Given the description of an element on the screen output the (x, y) to click on. 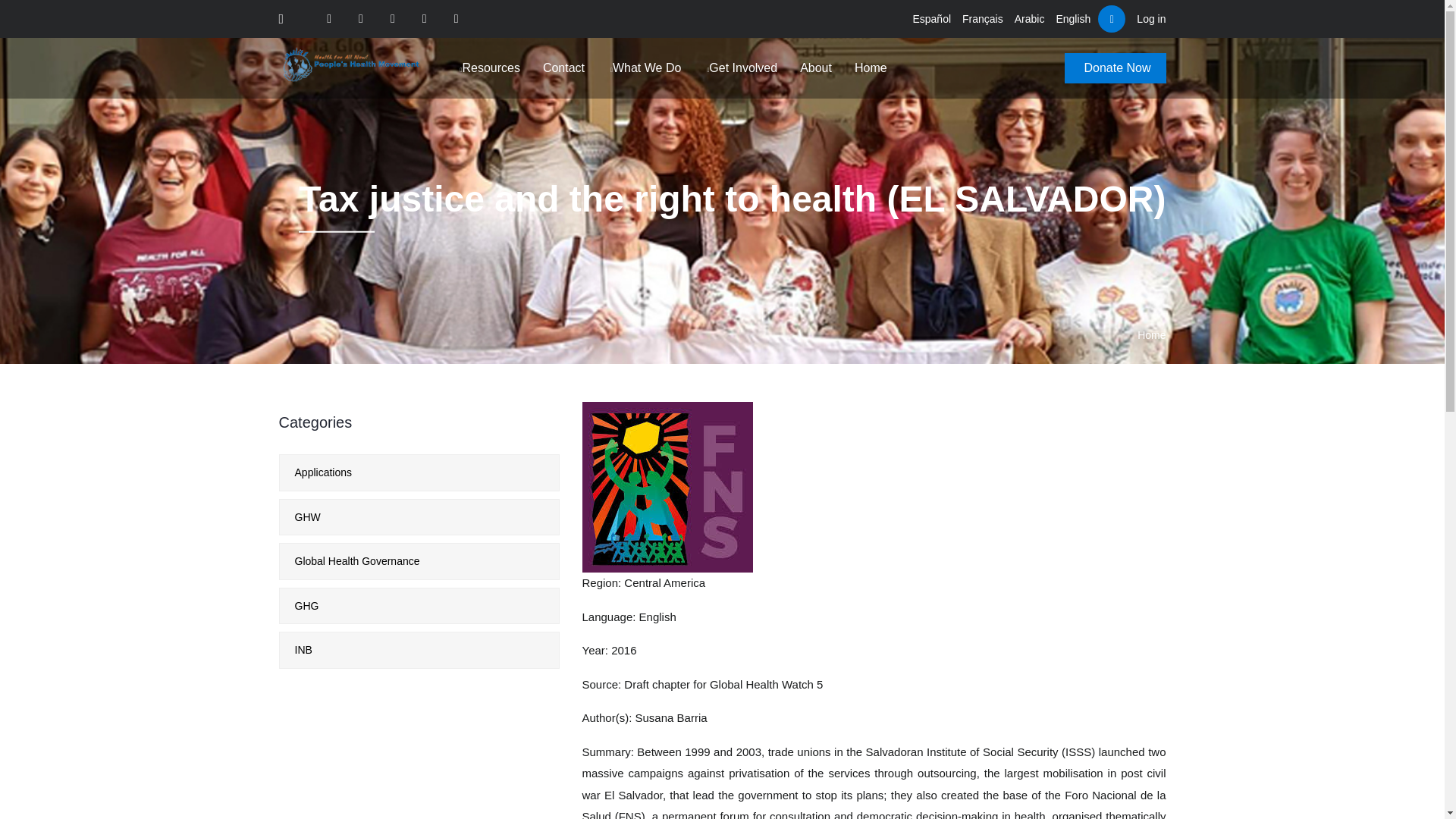
What We Do (644, 67)
Home (1151, 335)
English (1072, 18)
Donate Now (1115, 68)
Get Involved (740, 67)
Contact (564, 67)
Resources (488, 67)
About (815, 67)
Home (870, 67)
Home (352, 64)
Log in (1151, 18)
